Given the description of an element on the screen output the (x, y) to click on. 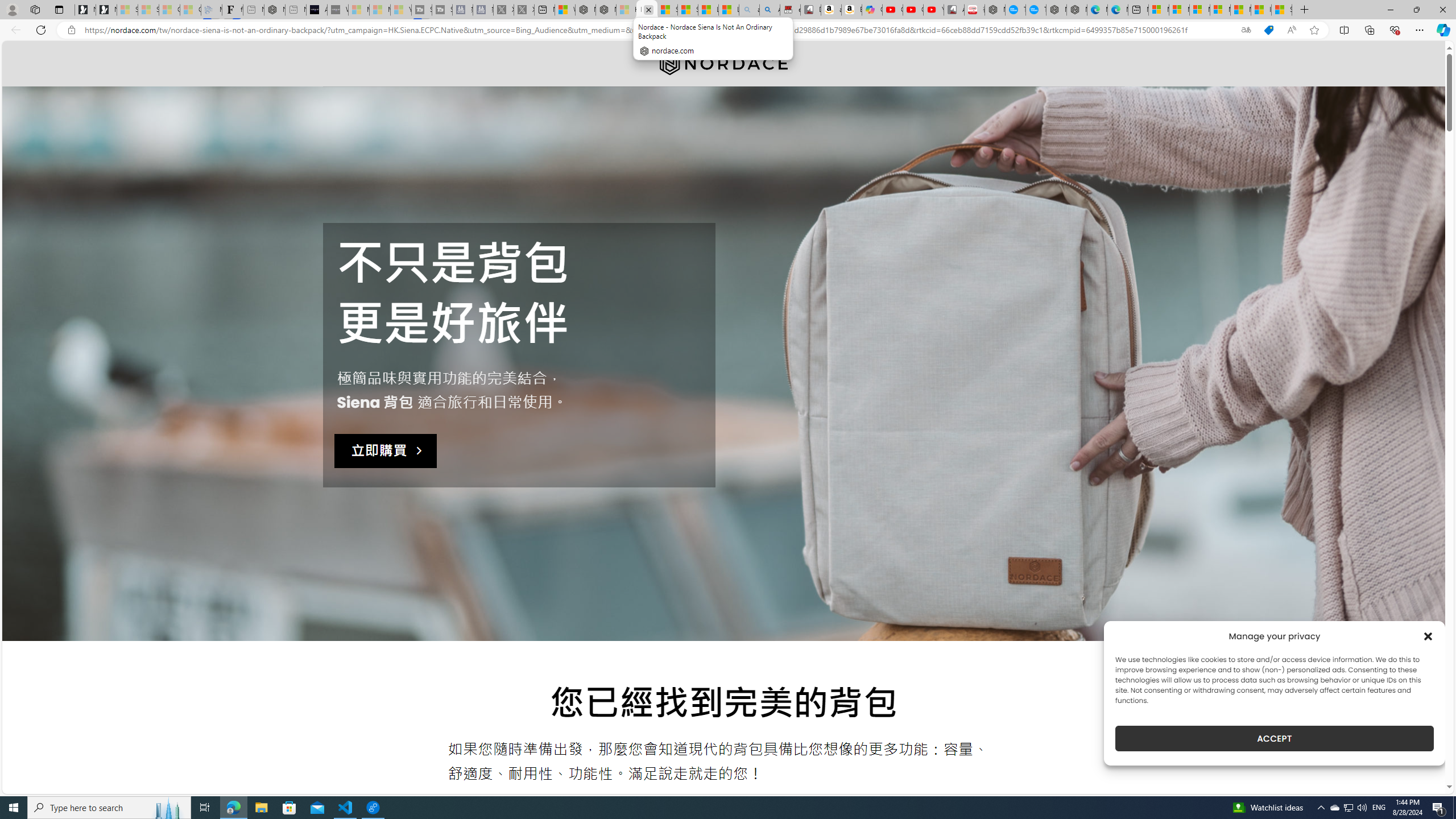
Nordace - Nordace Siena Is Not An Ordinary Backpack (646, 9)
Nordace - Nordace has arrived Hong Kong (1076, 9)
Copilot (871, 9)
All Cubot phones (954, 9)
Streaming Coverage | T3 - Sleeping (421, 9)
